Given the description of an element on the screen output the (x, y) to click on. 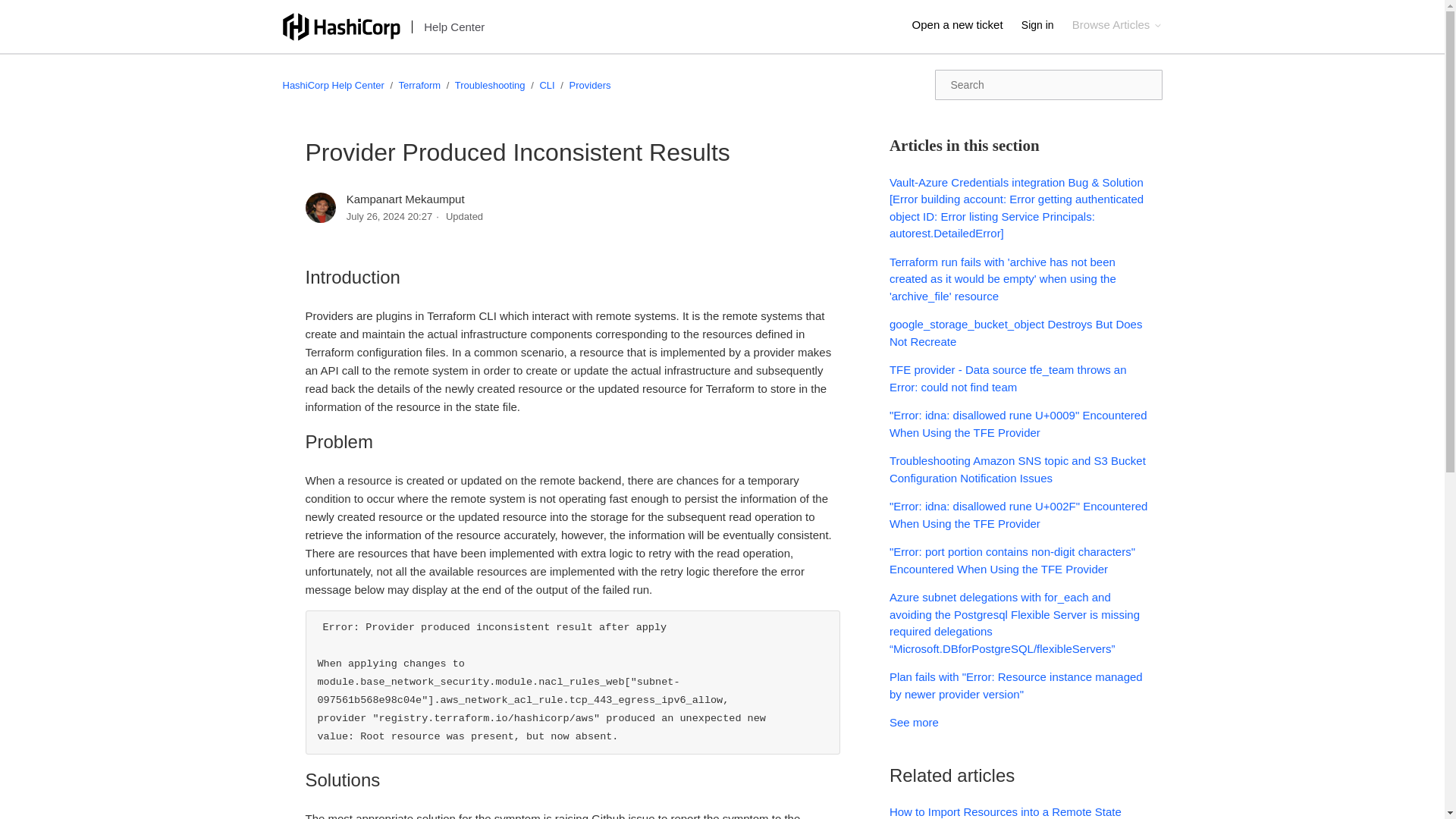
See more (914, 721)
Sign in (1045, 25)
Providers (590, 84)
Troubleshooting (489, 84)
Opens a dialog (1045, 25)
Terraform (419, 84)
2024-07-26T20:27:23Z (389, 215)
